Given the description of an element on the screen output the (x, y) to click on. 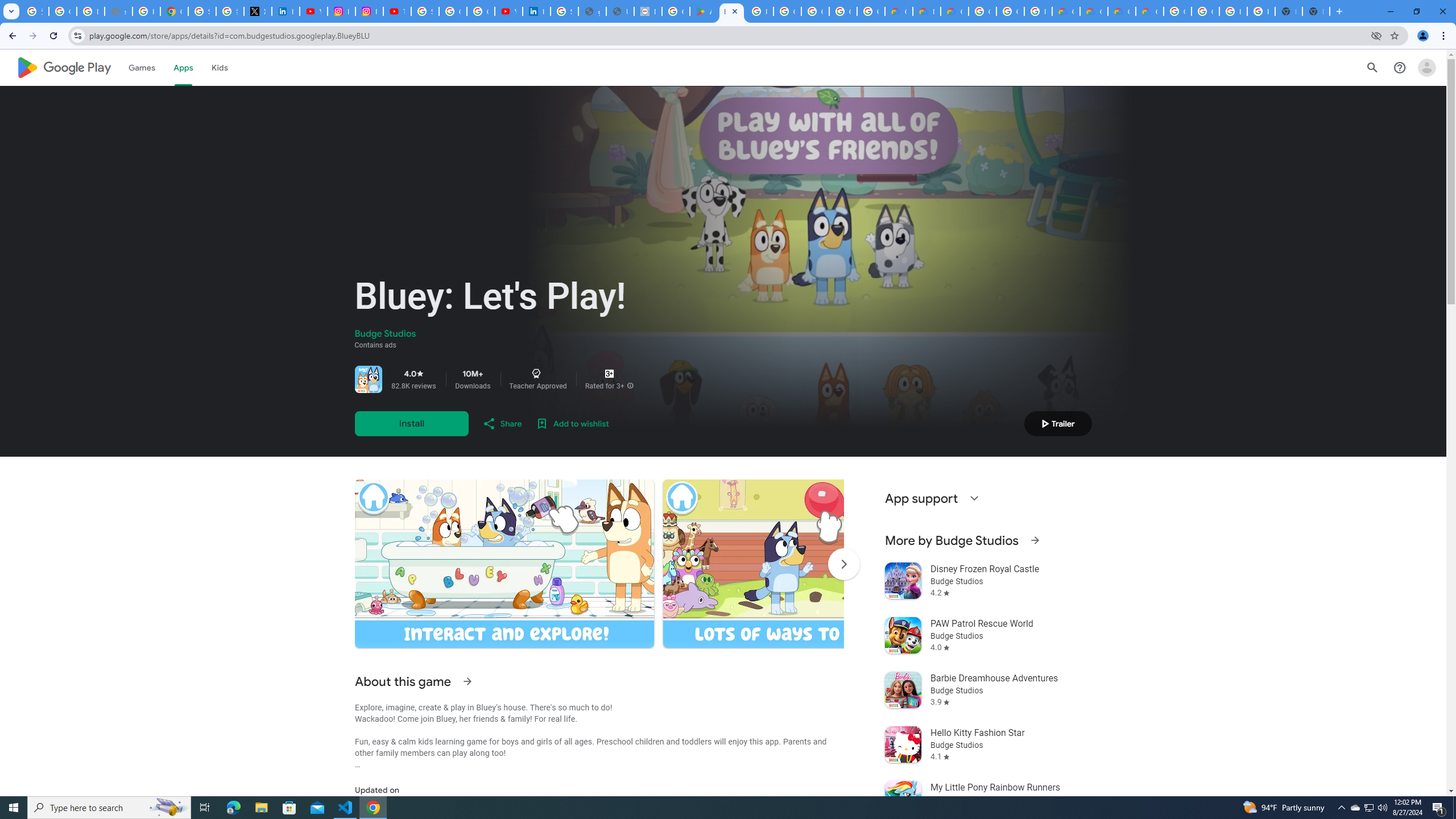
Games (141, 67)
Install (410, 423)
Help Center (1399, 67)
Google Workspace - Specific Terms (842, 11)
Bluey: Let's Play! - Apps on Google Play (731, 11)
User Details (620, 11)
Screenshot image (812, 563)
